Given the description of an element on the screen output the (x, y) to click on. 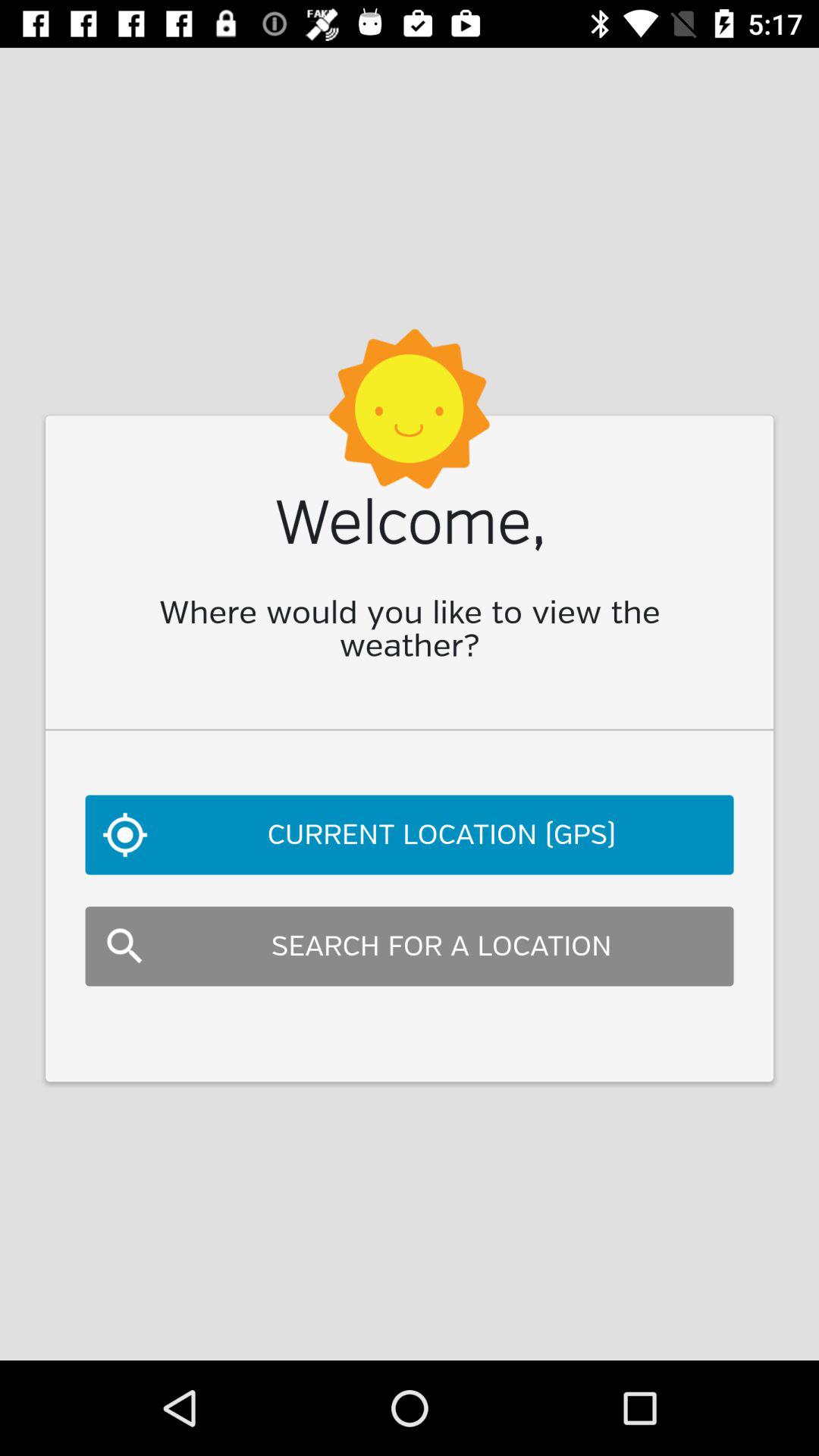
tap current location (gps) icon (409, 834)
